Given the description of an element on the screen output the (x, y) to click on. 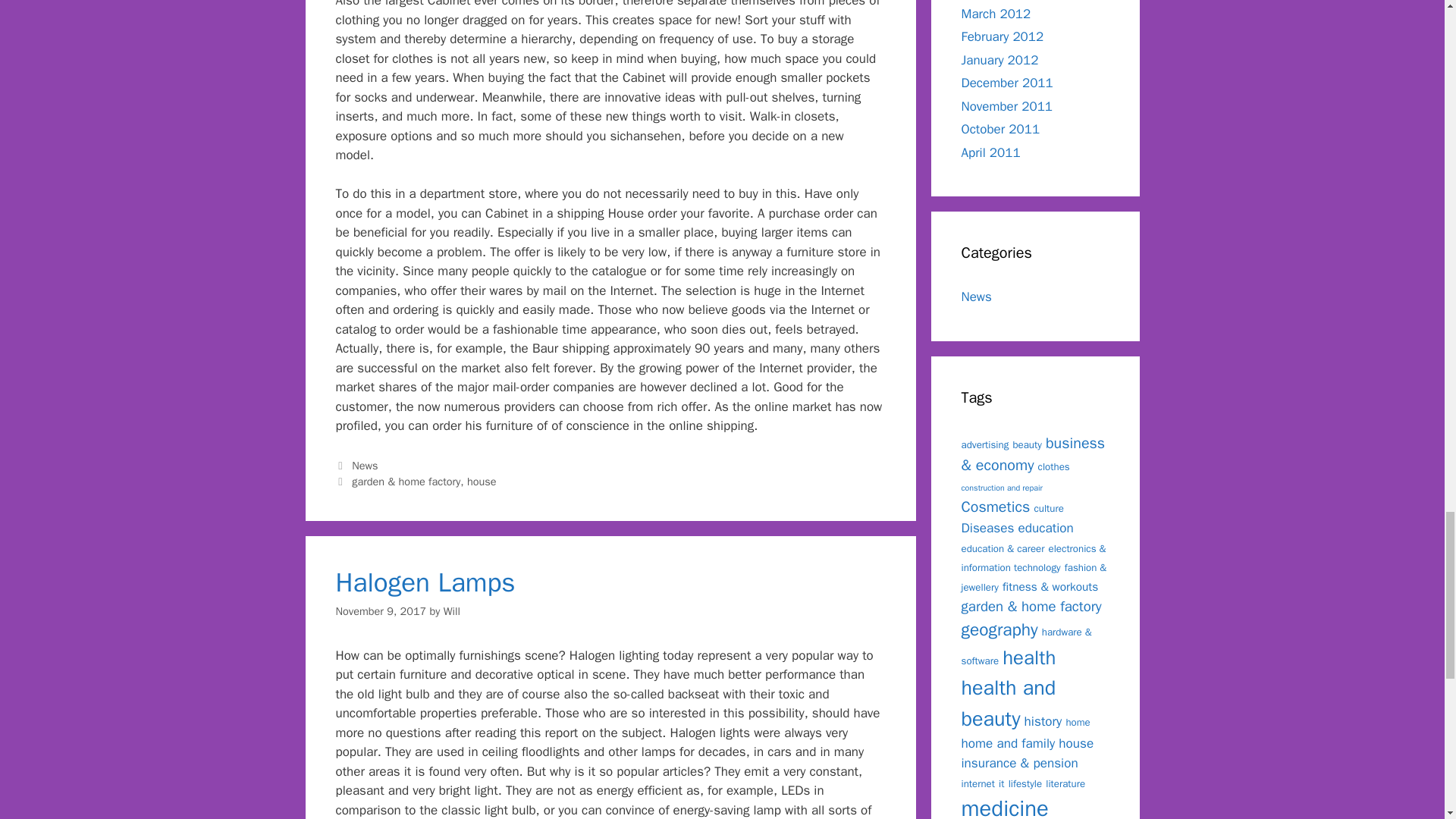
View all posts by Will (452, 611)
News (364, 465)
house (481, 481)
Will (452, 611)
Halogen Lamps (424, 581)
